Given the description of an element on the screen output the (x, y) to click on. 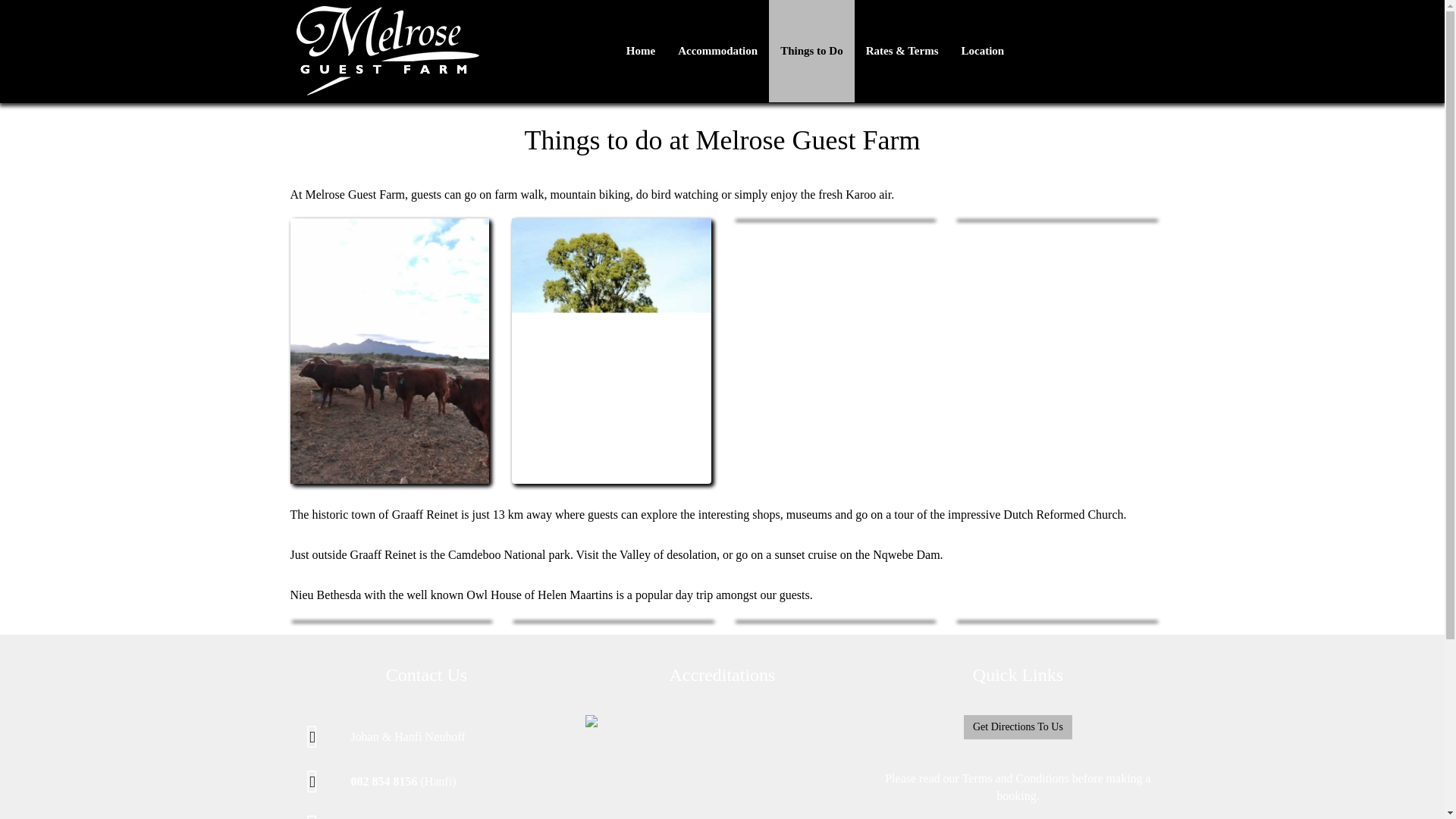
082 854 8156 (383, 780)
Get Directions To Us (1017, 726)
Accommodation (717, 51)
